Given the description of an element on the screen output the (x, y) to click on. 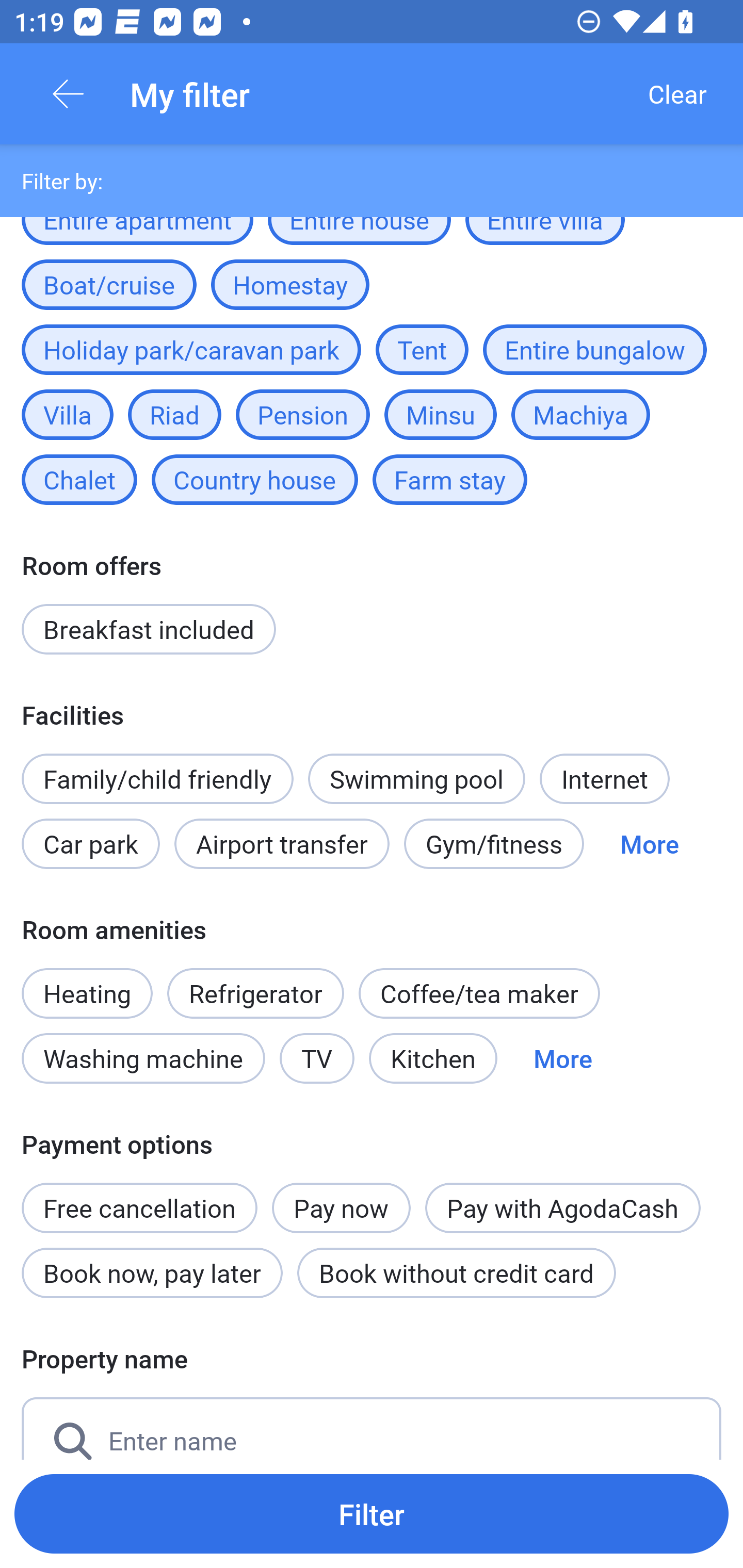
Clear (676, 93)
Breakfast included (148, 629)
Family/child friendly (157, 778)
Swimming pool (416, 778)
Internet (604, 778)
Car park (90, 844)
Airport transfer (281, 844)
Gym/fitness (493, 844)
More (649, 844)
Heating (87, 982)
Refrigerator (255, 993)
Coffee/tea maker (479, 993)
Washing machine (143, 1058)
TV (317, 1058)
Kitchen (433, 1058)
More (562, 1058)
Free cancellation (139, 1197)
Pay now (340, 1208)
Pay with AgodaCash (562, 1208)
Book now, pay later (152, 1272)
Book without credit card (456, 1272)
Enter name (371, 1428)
Filter (371, 1513)
